Given the description of an element on the screen output the (x, y) to click on. 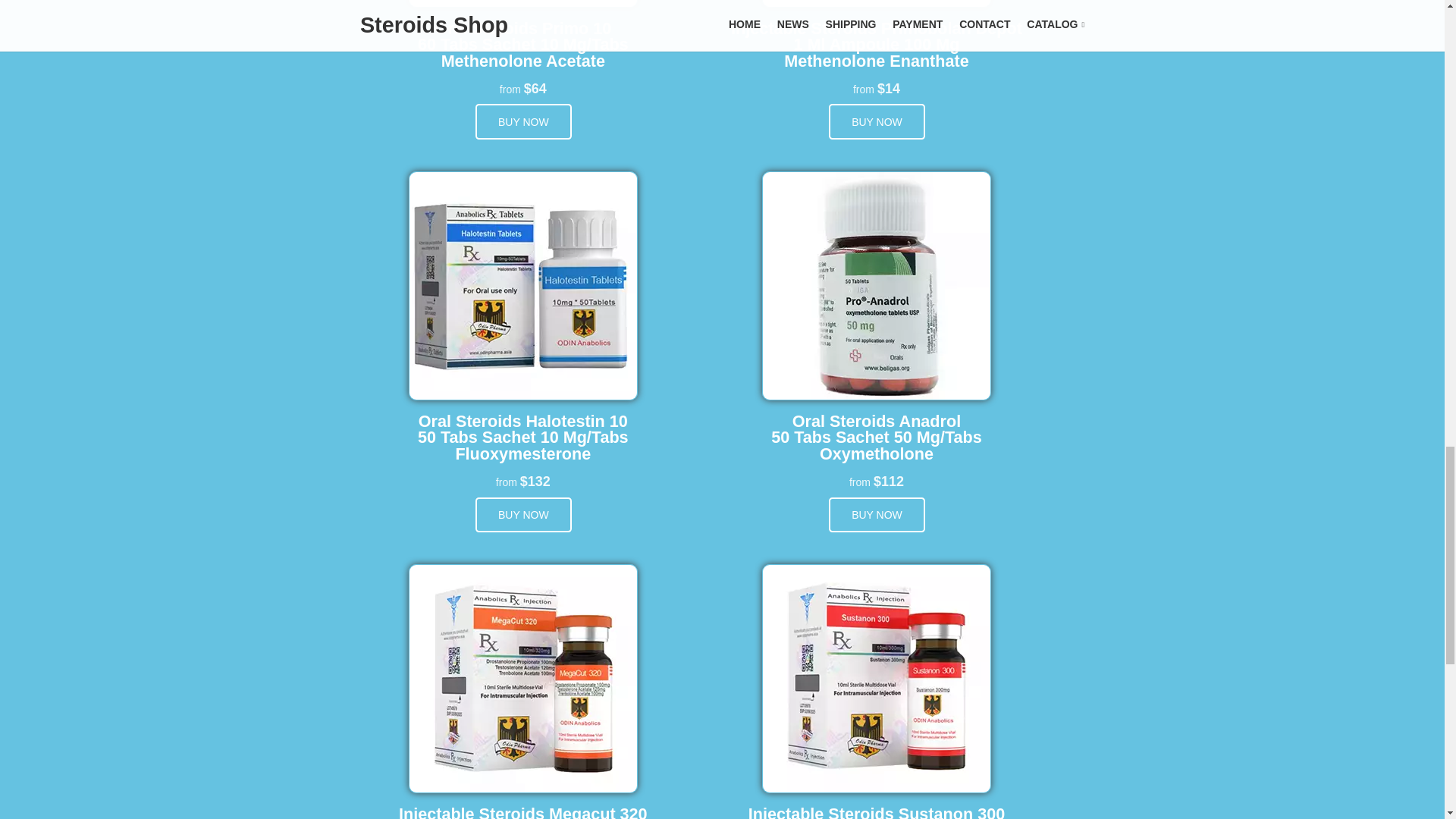
BUY NOW (876, 121)
BUY NOW (876, 515)
BUY NOW (524, 121)
BUY NOW (524, 515)
